Given the description of an element on the screen output the (x, y) to click on. 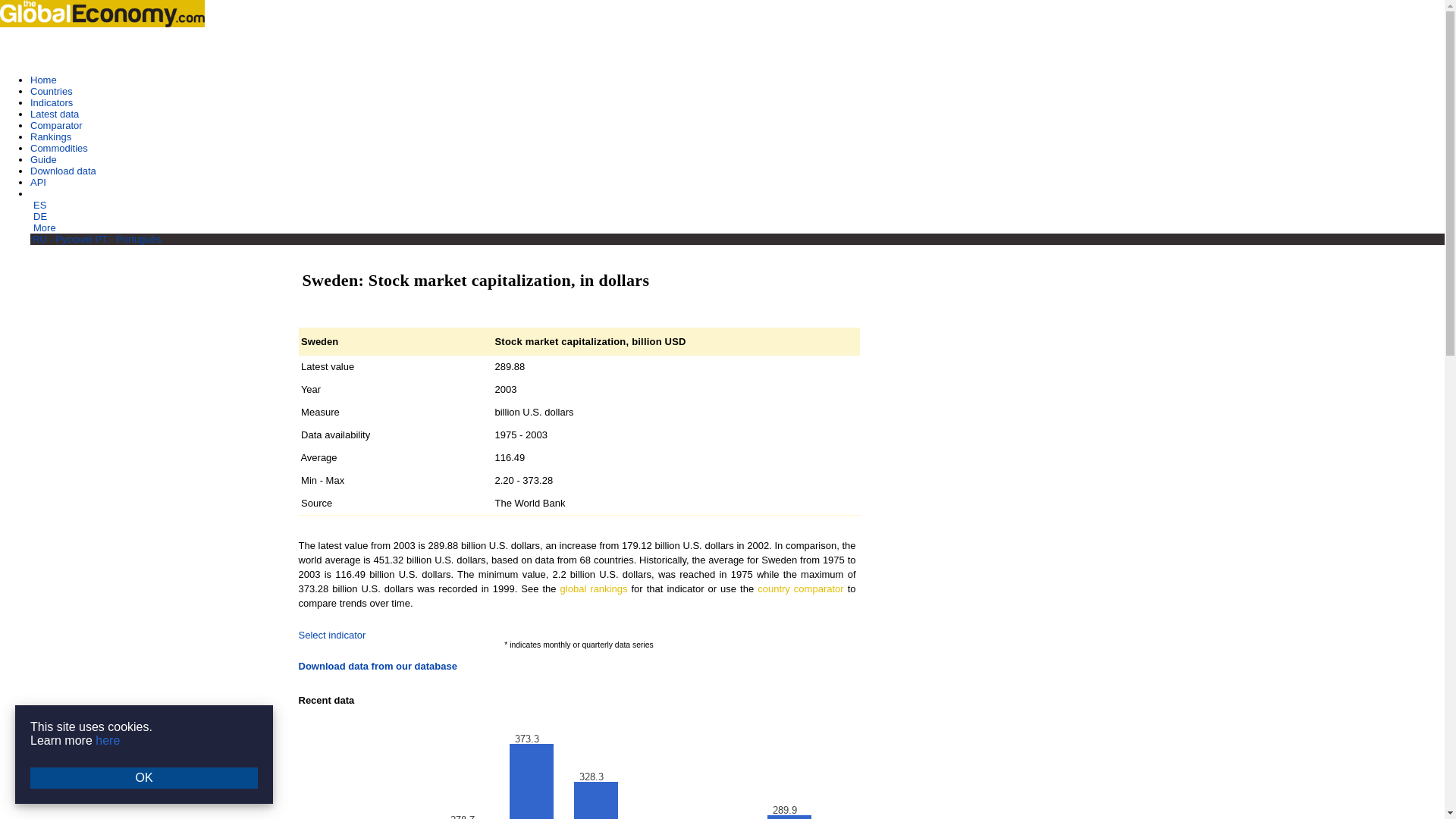
Guide (43, 159)
The World Bank (529, 502)
Countries (51, 91)
country comparator (800, 588)
EN (38, 193)
Download data (63, 170)
Commodities (58, 147)
Rankings (50, 136)
DE (39, 215)
Comparator (56, 125)
